Given the description of an element on the screen output the (x, y) to click on. 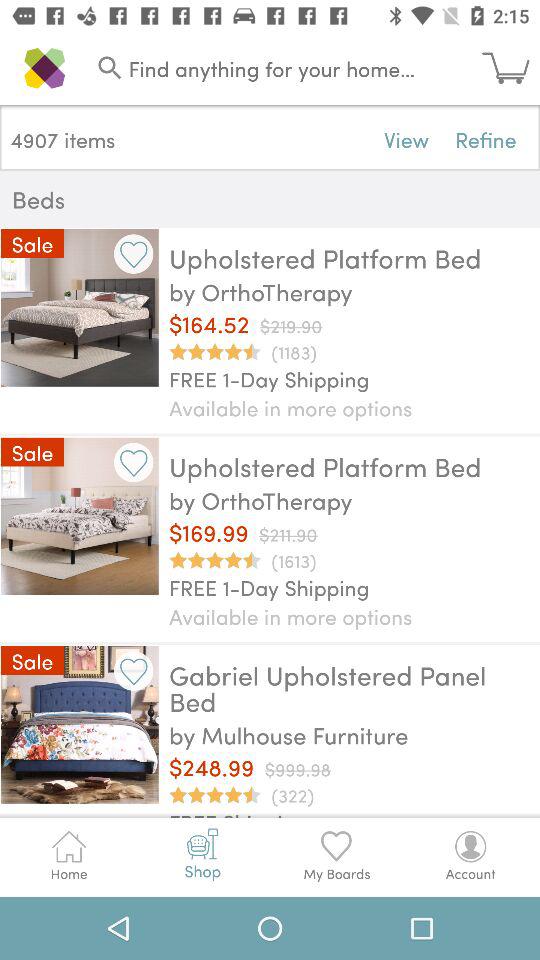
tap the item to the right of find anything for (511, 68)
